Given the description of an element on the screen output the (x, y) to click on. 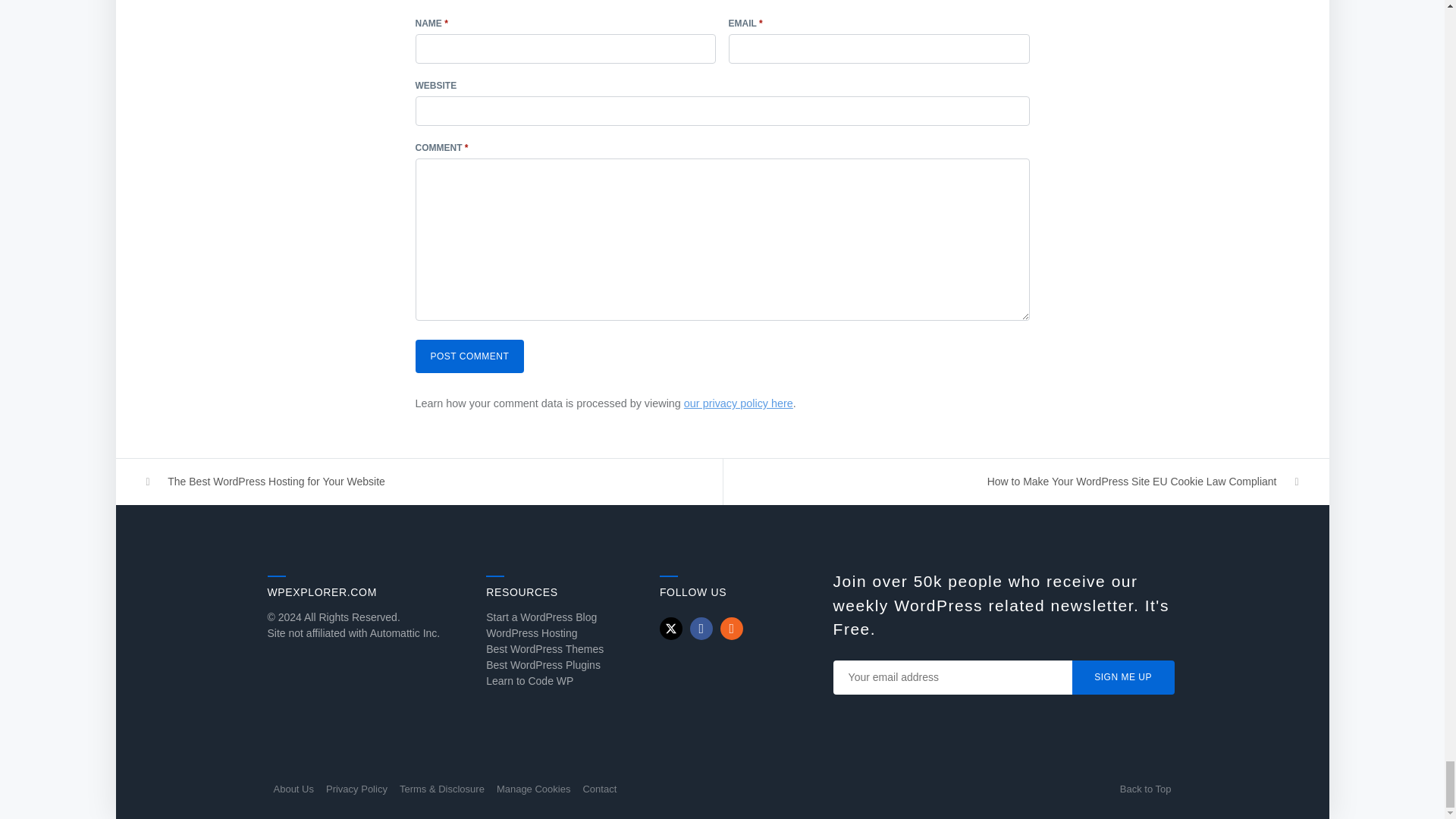
our privacy policy here (738, 403)
WordPress Hosting (531, 633)
Post Comment (469, 356)
Start a WordPress Blog (541, 616)
Best WordPress Themes (545, 648)
Post Comment (469, 356)
Follow WPExplorer on Twitter (670, 628)
Back to Top (1145, 789)
How to Make Your WordPress Site EU Cookie Law Compliant (1026, 481)
Subscribe to the WPExplorer Feed (731, 628)
Best WordPress Plugins (542, 664)
The Best WordPress Hosting for Your Website (418, 481)
Learn to Code WP (529, 680)
Like WPExplorer Facebook Page (701, 628)
